Given the description of an element on the screen output the (x, y) to click on. 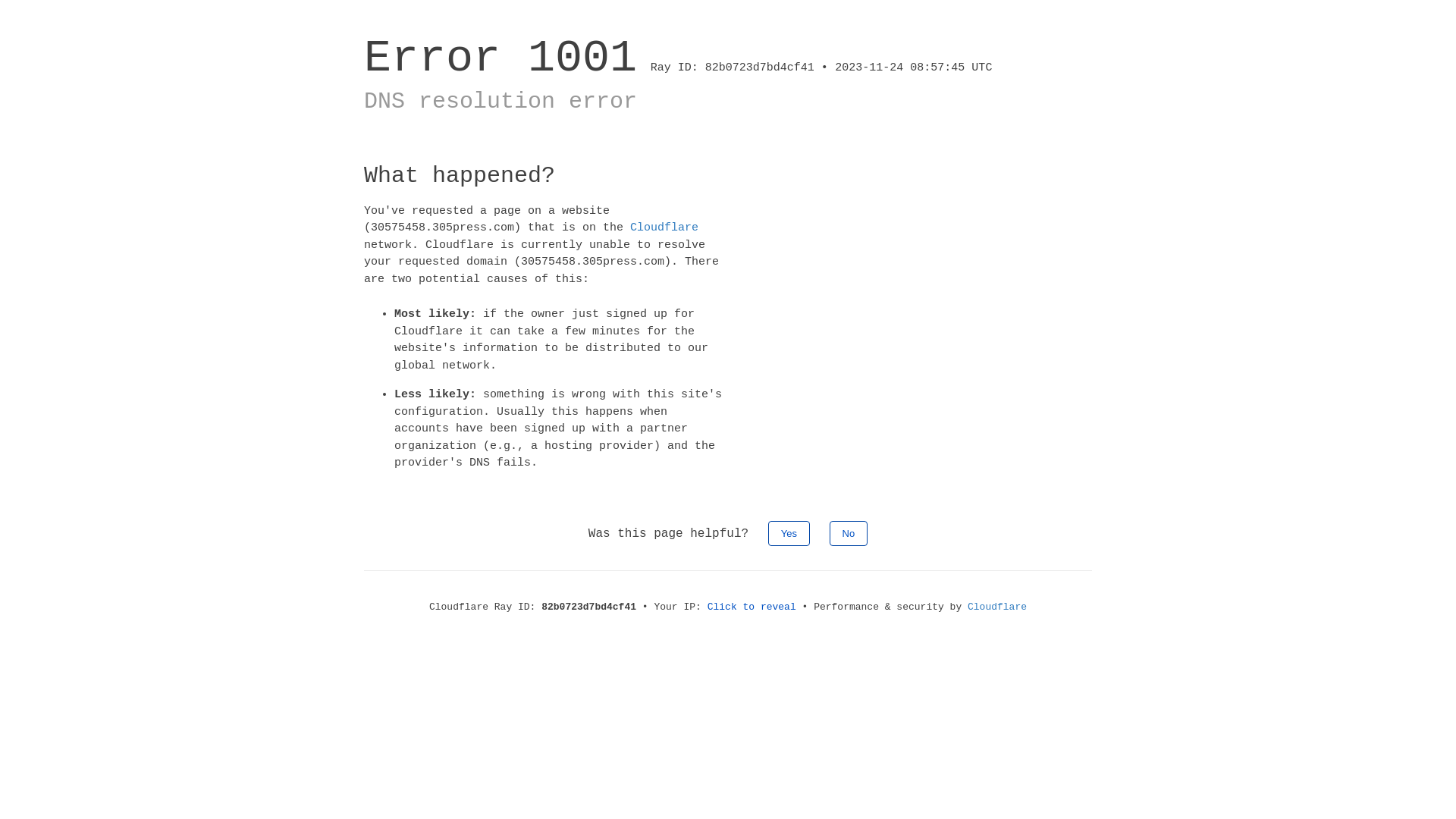
Yes Element type: text (788, 532)
Click to reveal Element type: text (751, 605)
Cloudflare Element type: text (996, 605)
Cloudflare Element type: text (664, 227)
No Element type: text (848, 532)
